Given the description of an element on the screen output the (x, y) to click on. 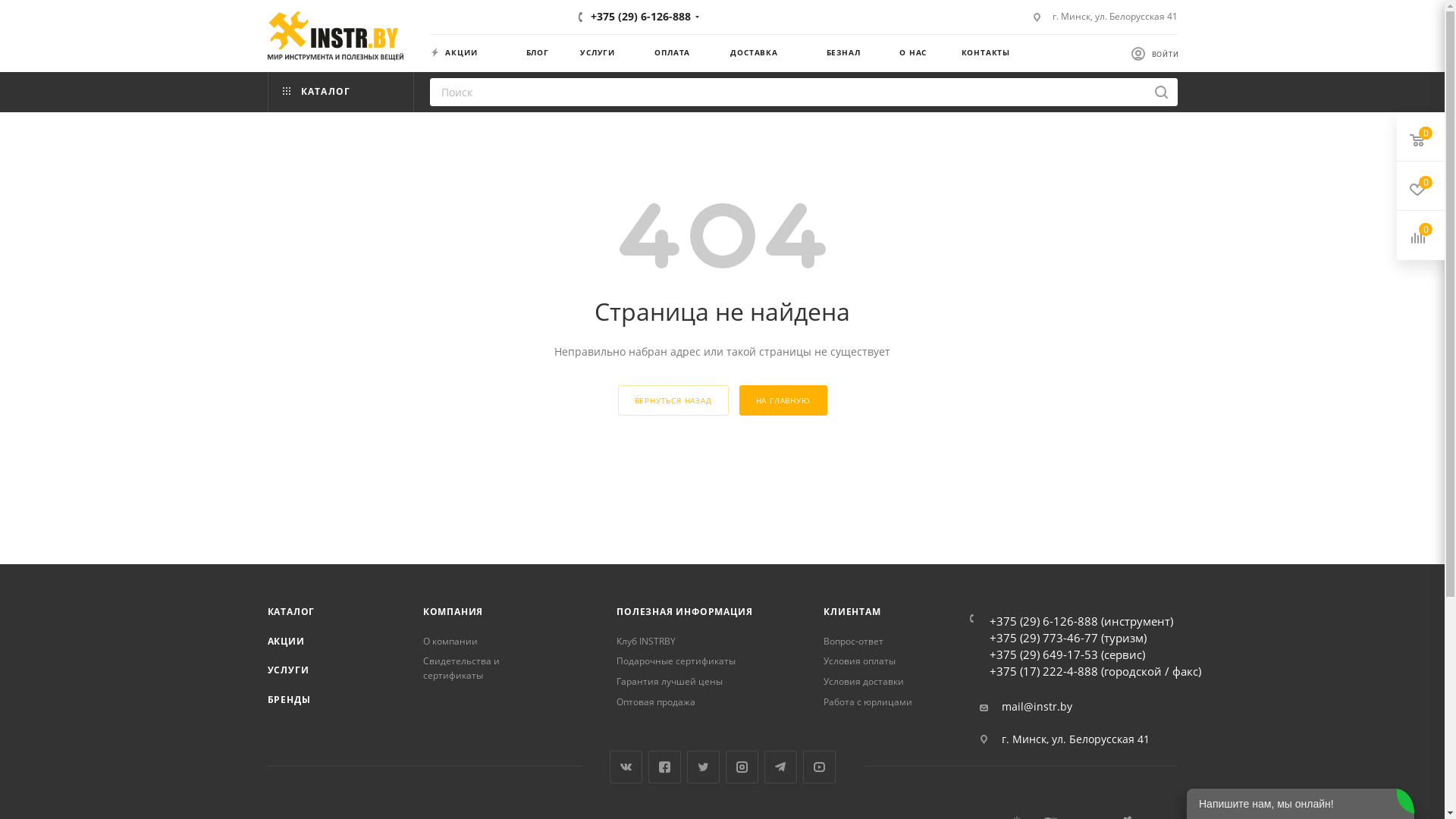
+375 (29) 6-126-888 Element type: text (640, 16)
Facebook Element type: text (663, 766)
mail@instr.by Element type: text (1036, 706)
Instagram Element type: text (740, 766)
YouTube Element type: text (818, 766)
Telegram Element type: text (780, 766)
Twitter Element type: text (703, 766)
Advertisement Element type: hover (721, 525)
